Given the description of an element on the screen output the (x, y) to click on. 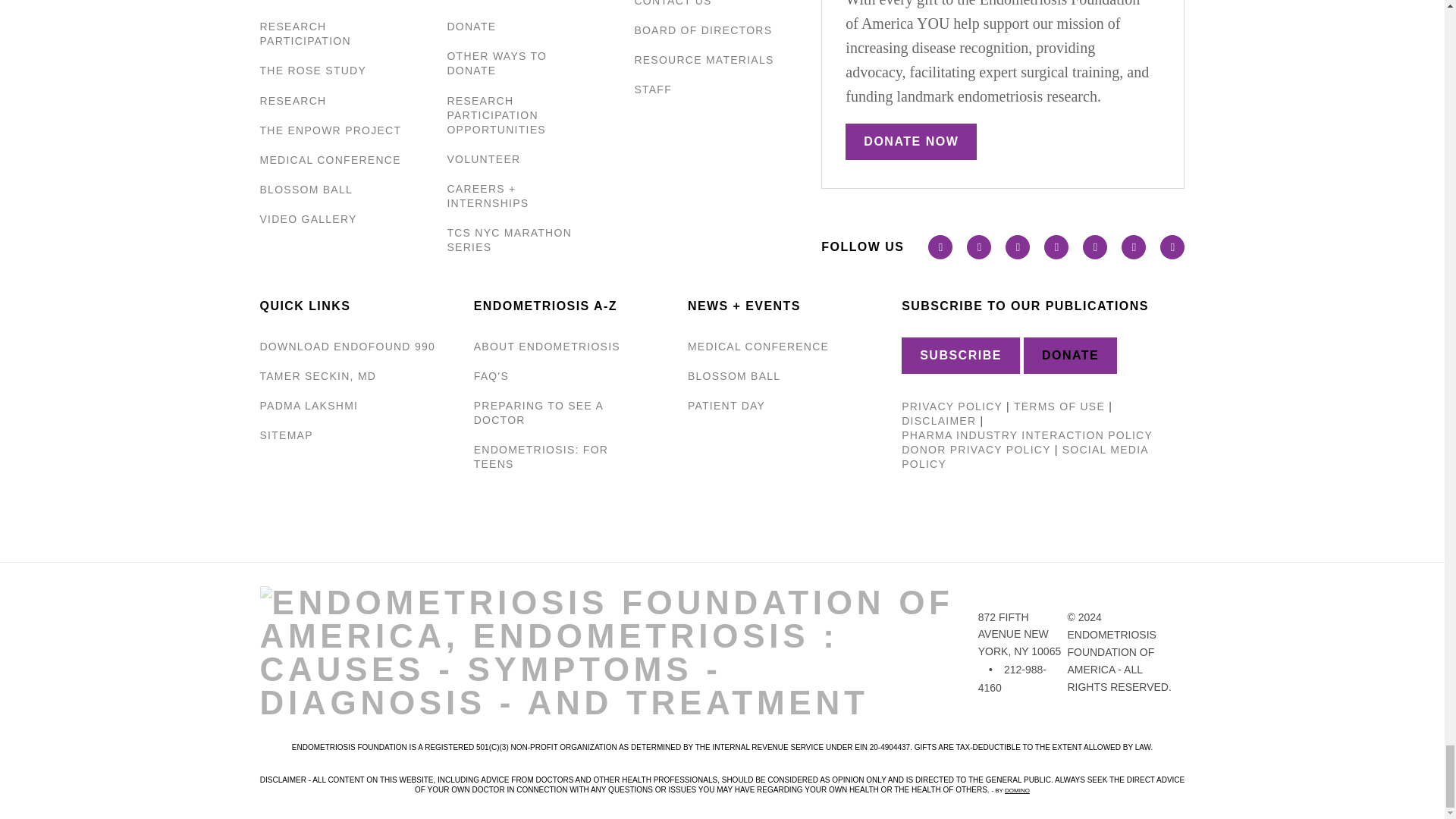
endometriosis, endometriosis surgery, endometriosis surgeon (317, 376)
flickr (1094, 247)
facebook (940, 247)
instagram (1055, 247)
pinterest (1133, 247)
twitter (978, 247)
youtube (1017, 247)
linkedin (1172, 247)
